Given the description of an element on the screen output the (x, y) to click on. 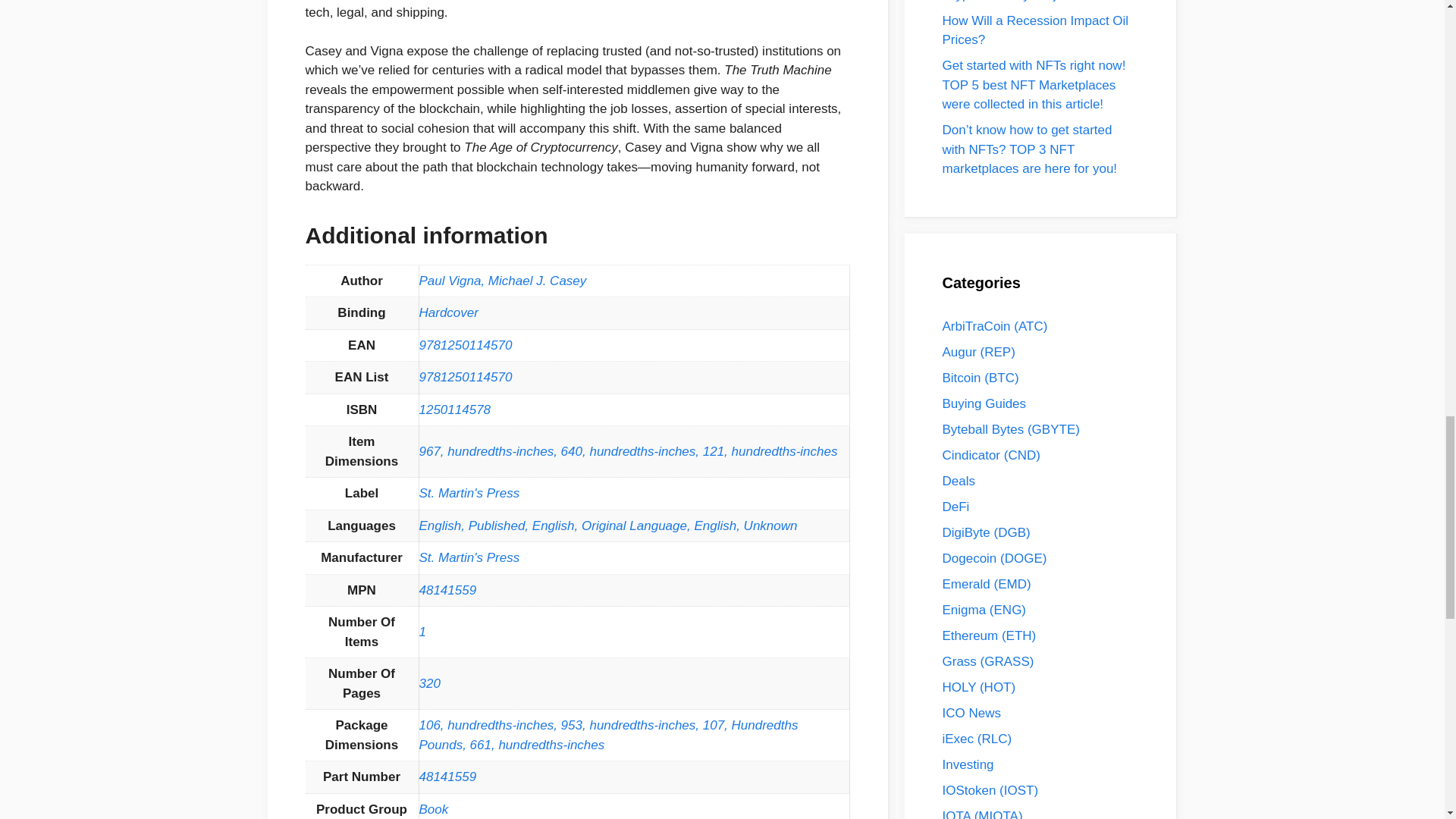
St. Martin's Press (469, 493)
9781250114570 (465, 345)
9781250114570 (465, 377)
Hardcover (448, 312)
Paul Vigna, Michael J. Casey (502, 280)
1250114578 (454, 409)
